Given the description of an element on the screen output the (x, y) to click on. 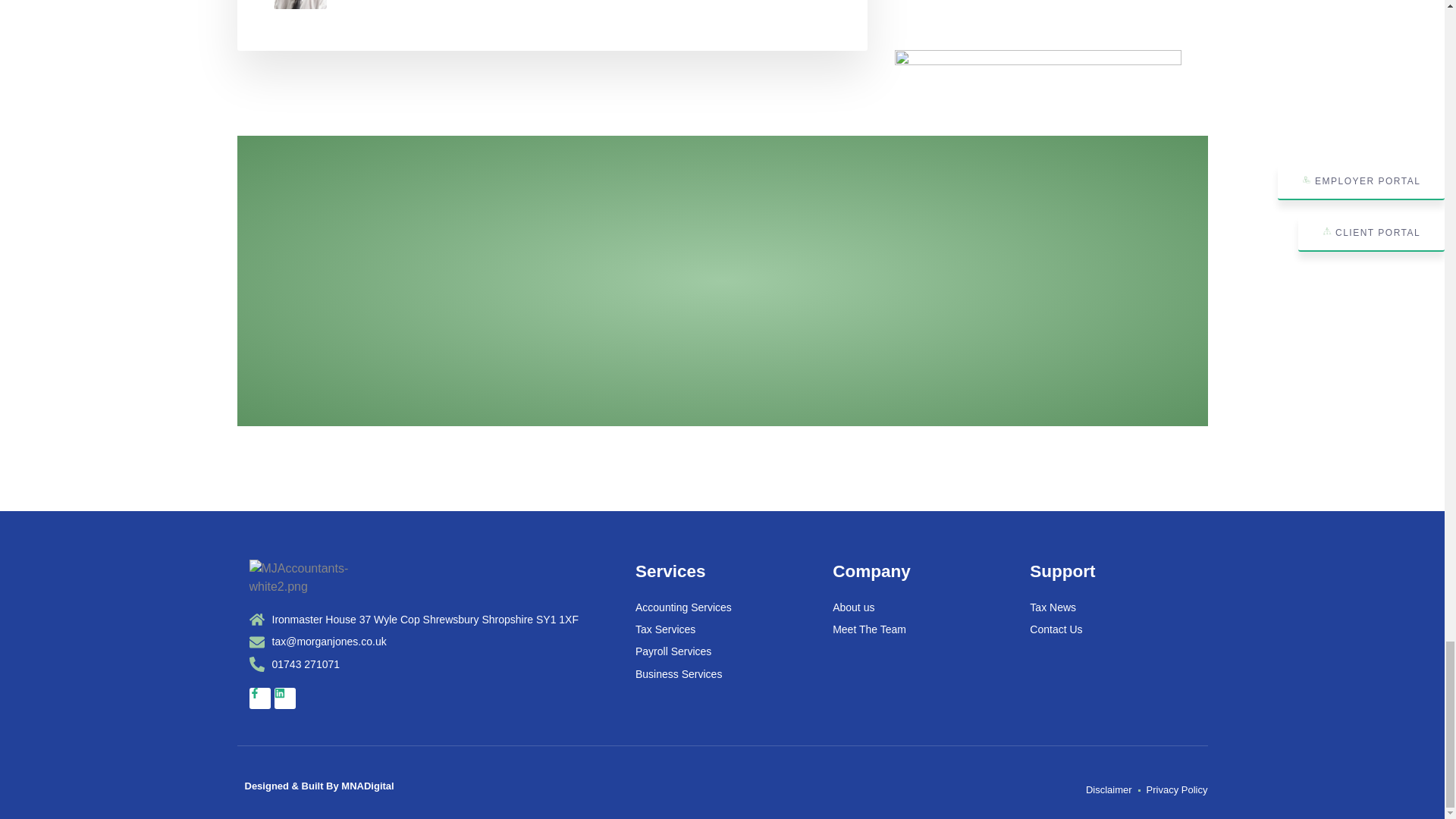
MJAccountants-white2.png (327, 577)
